Given the description of an element on the screen output the (x, y) to click on. 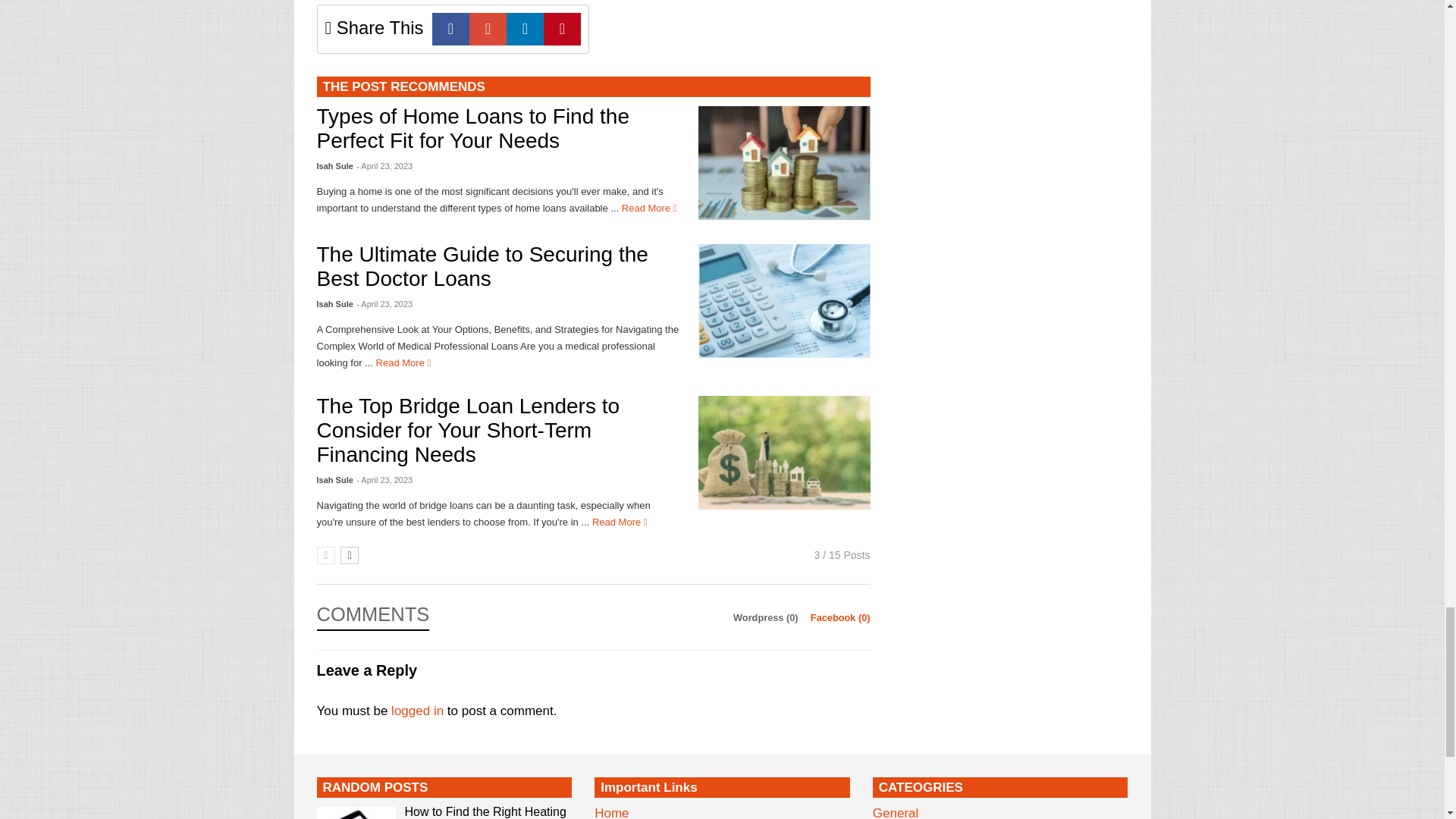
Types of Home Loans to Find the Perfect Fit for Your Needs (472, 128)
The Ultimate Guide to Securing the Best Doctor Loans 2 (783, 300)
Types of Home Loans to Find the Perfect Fit for Your Needs 1 (783, 162)
E-mail (487, 29)
The Ultimate Guide to Securing the Best Doctor Loans (783, 300)
Linkedin (524, 29)
The Ultimate Guide to Securing the Best Doctor Loans (482, 266)
The Ultimate Guide to Securing the Best Doctor Loans (402, 362)
Pinterest (561, 29)
Types of Home Loans to Find the Perfect Fit for Your Needs (783, 163)
Types of Home Loans to Find the Perfect Fit for Your Needs (649, 207)
Facebook (450, 29)
